Given the description of an element on the screen output the (x, y) to click on. 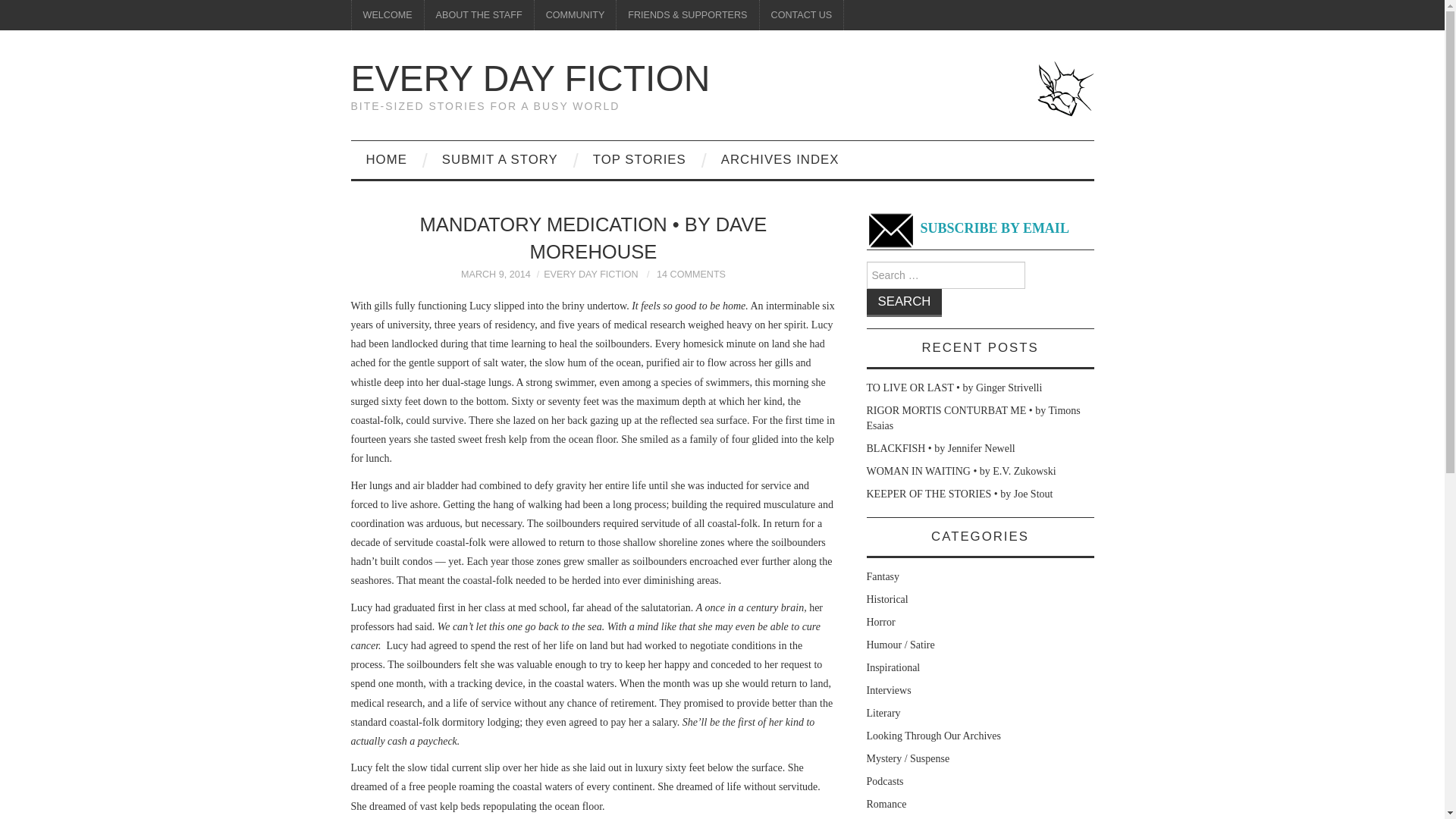
  SUBSCRIBE BY EMAIL (967, 229)
Interviews (888, 690)
ARCHIVES INDEX (780, 159)
EVERY DAY FICTION (590, 274)
Horror (880, 622)
EVERY DAY FICTION (530, 78)
MARCH 9, 2014 (496, 274)
14 COMMENTS (690, 274)
ABOUT THE STAFF (479, 15)
Looking Through Our Archives (933, 736)
